Given the description of an element on the screen output the (x, y) to click on. 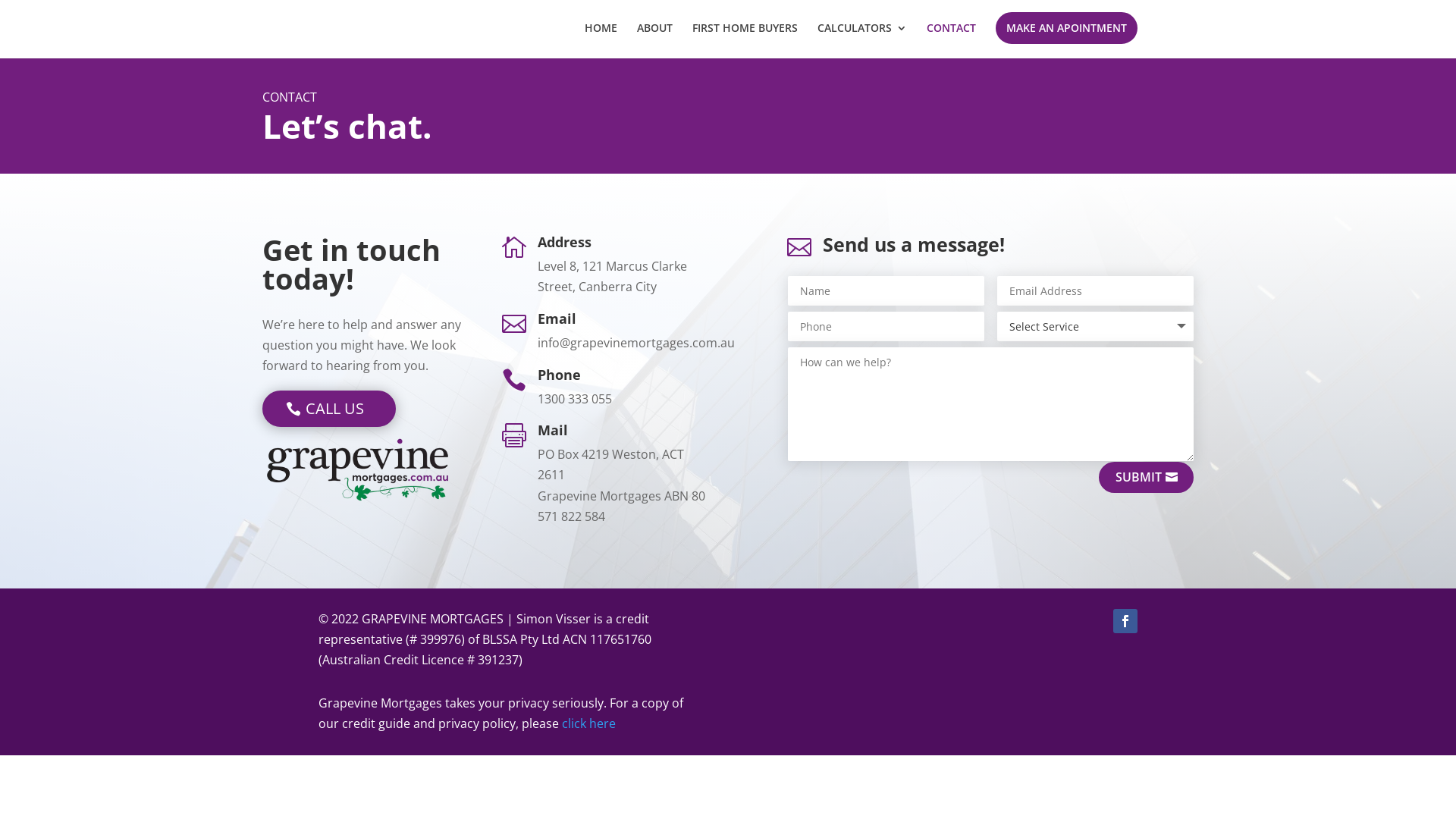
HOME Element type: text (600, 40)
CONTACT Element type: text (950, 40)
SUBMIT Element type: text (1145, 476)
ABOUT Element type: text (654, 40)
Email Element type: text (556, 318)
Phone Element type: text (558, 374)
Follow on Facebook Element type: hover (1125, 620)
FIRST HOME BUYERS Element type: text (744, 40)
click here Element type: text (588, 723)
CALL US Element type: text (328, 408)
CALCULATORS Element type: text (861, 40)
MAKE AN APOINTMENT Element type: text (1066, 27)
